Given the description of an element on the screen output the (x, y) to click on. 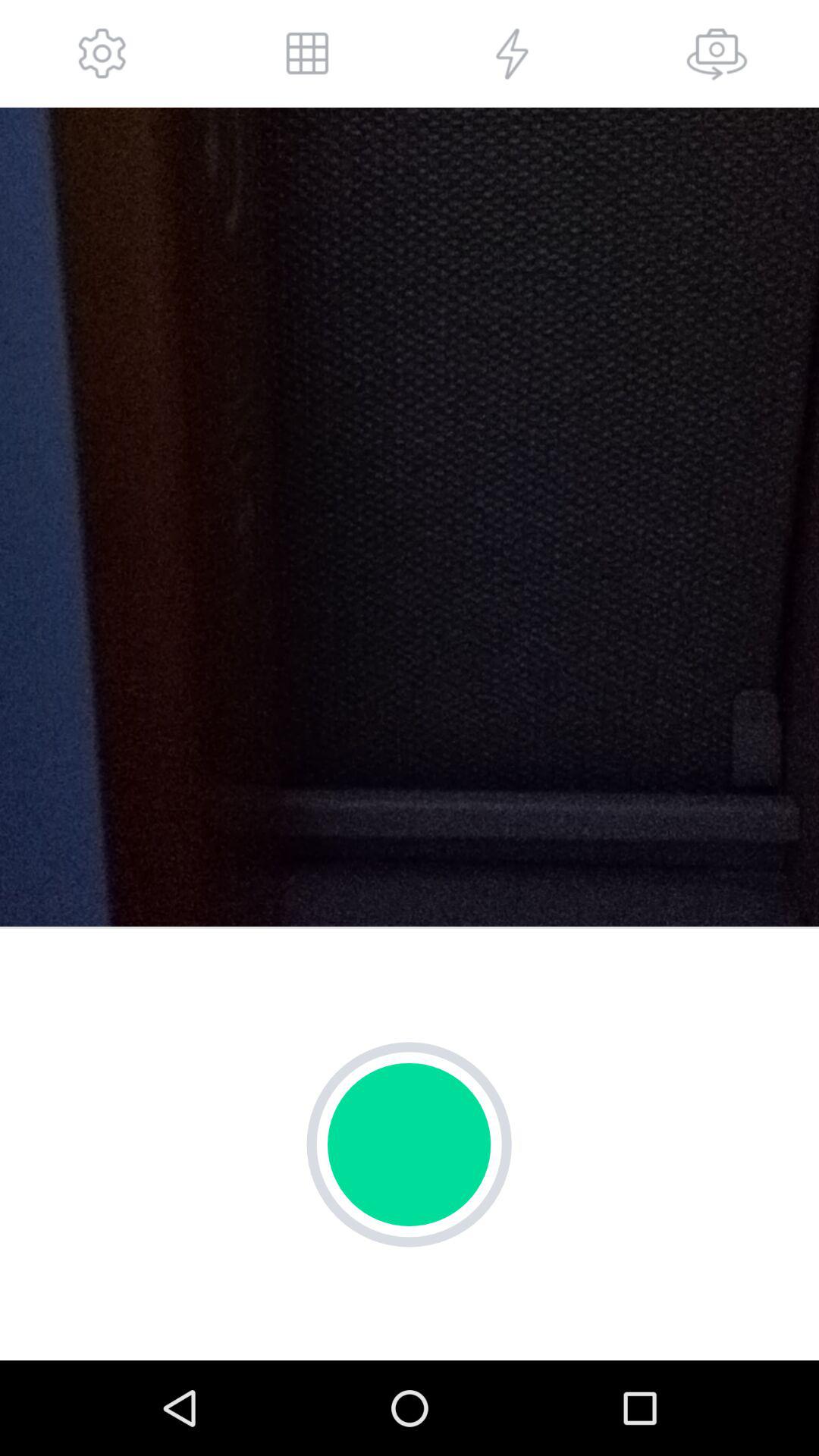
show settings (102, 53)
